Given the description of an element on the screen output the (x, y) to click on. 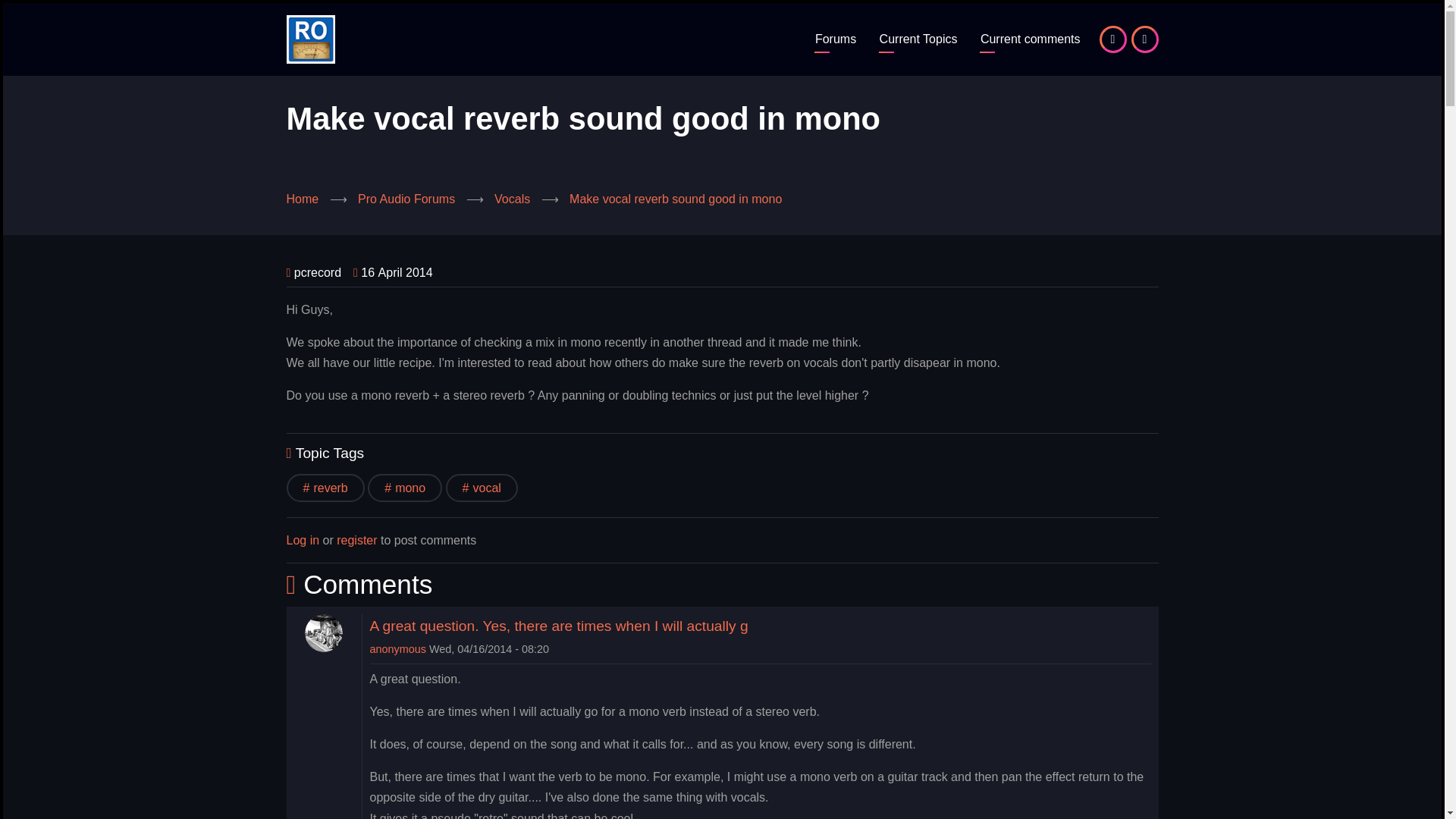
reverb (325, 488)
Log in (303, 539)
vocal (481, 488)
Pro Audio Forums (406, 198)
Current Topics (918, 39)
View user profile. (397, 648)
mono (405, 488)
Pro Audio Forums (835, 39)
Home (302, 198)
